Given the description of an element on the screen output the (x, y) to click on. 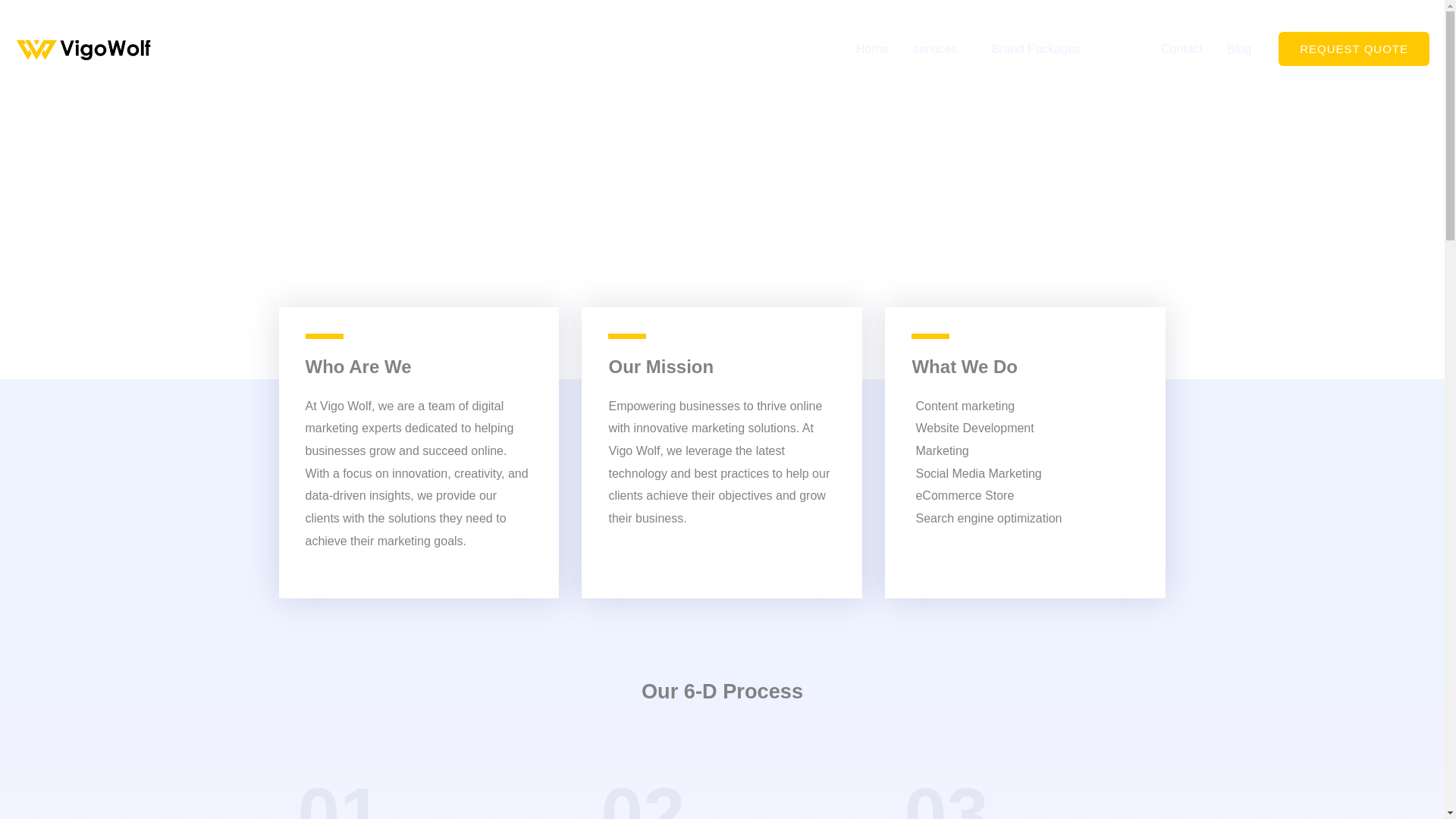
Brand Packages (1036, 48)
Contact (1181, 48)
REQUEST QUOTE (1353, 48)
services (940, 48)
Blog (1238, 48)
Home (872, 48)
About (1120, 48)
